Given the description of an element on the screen output the (x, y) to click on. 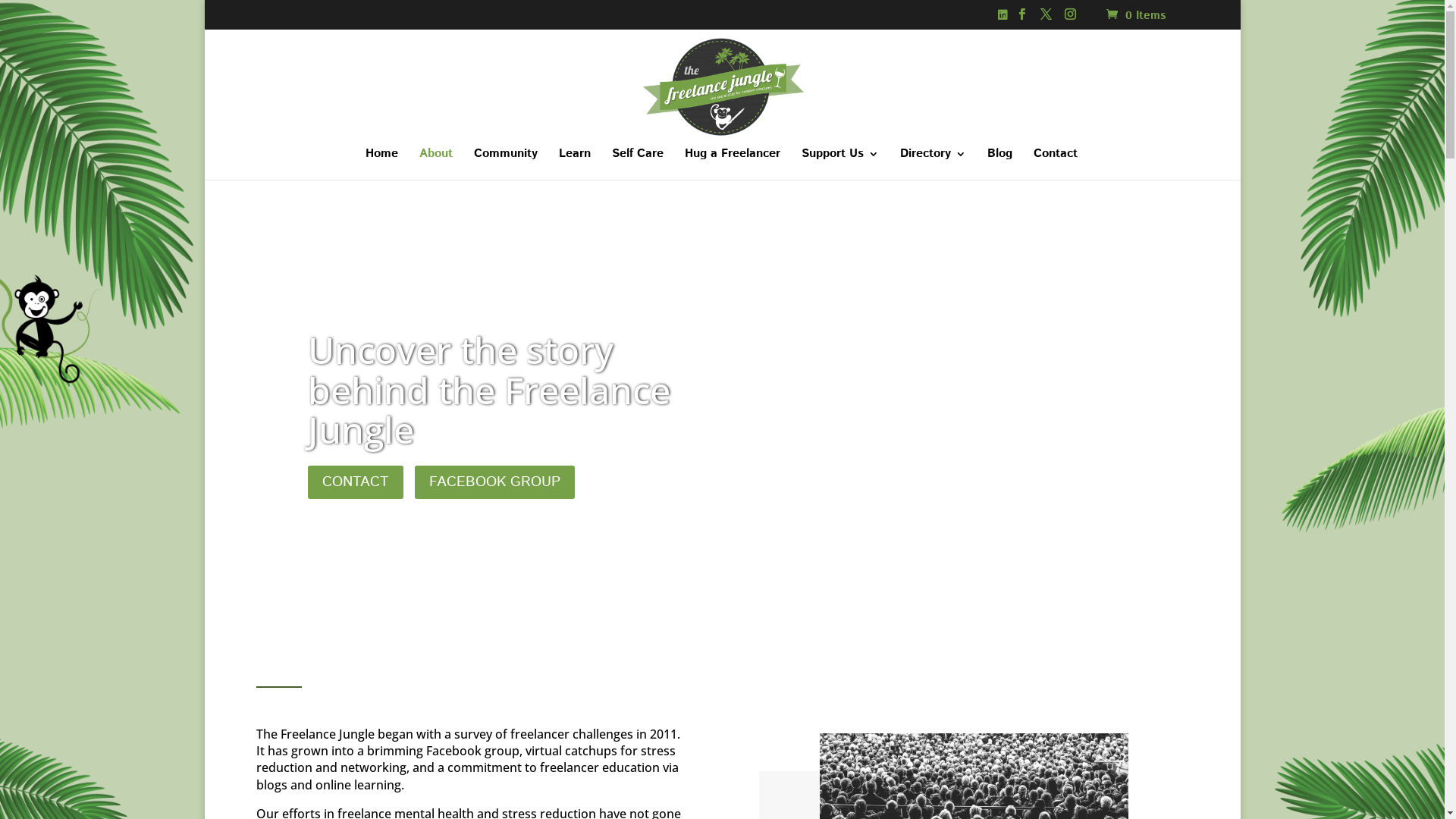
Skip to content Element type: text (0, 0)
Self Care Element type: text (637, 163)
Hug a Freelancer Element type: text (732, 163)
Contact Element type: text (1055, 163)
0 Items Element type: text (1133, 15)
FACEBOOK GROUP Element type: text (494, 481)
Learn Element type: text (574, 163)
About Element type: text (435, 163)
Home Element type: text (381, 163)
Community Element type: text (505, 163)
Support Us Element type: text (839, 163)
Blog Element type: text (999, 163)
Linked In Element type: hover (1002, 19)
Directory Element type: text (933, 163)
CONTACT Element type: text (355, 481)
